Given the description of an element on the screen output the (x, y) to click on. 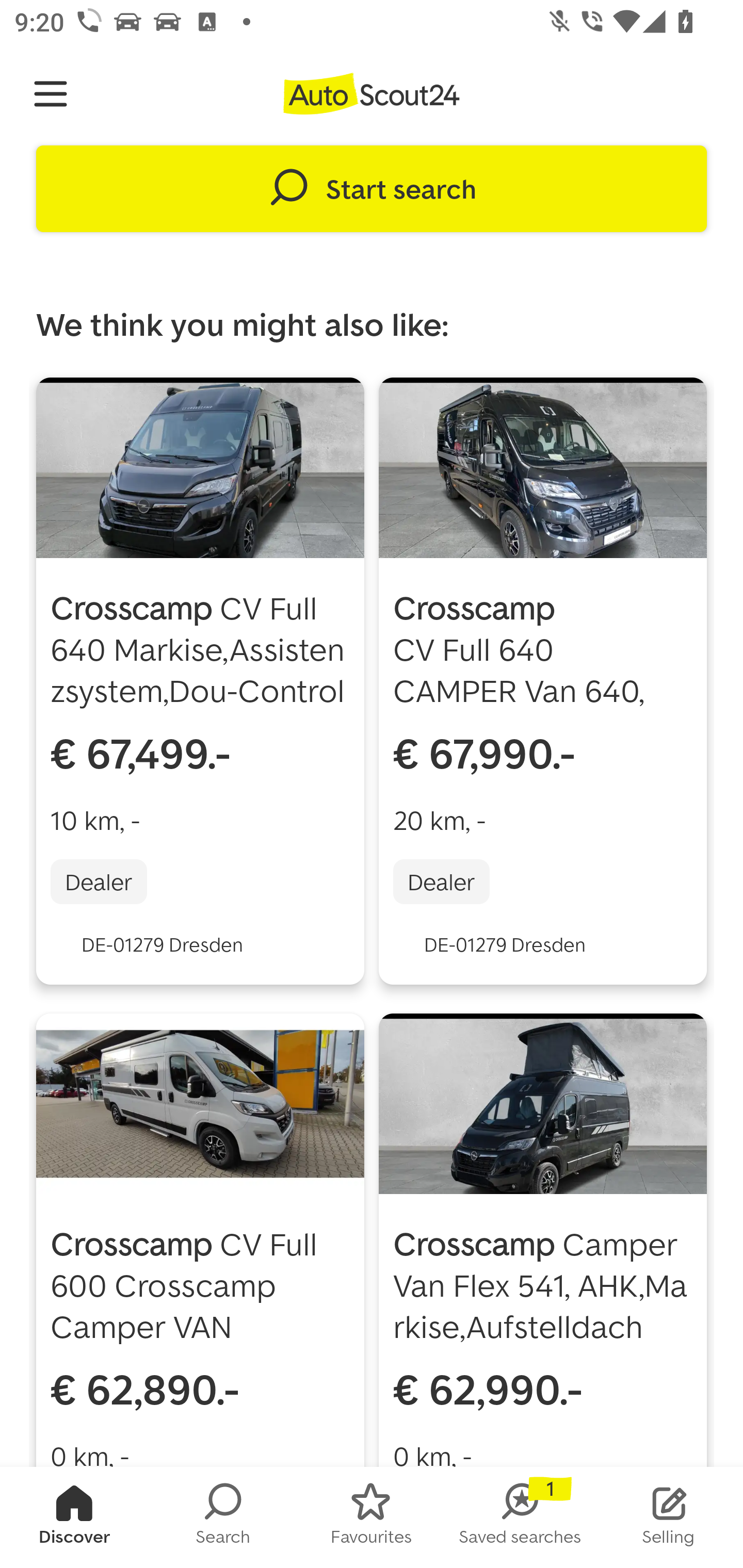
Navigate up (50, 93)
Start search (371, 188)
HOMESCREEN Discover (74, 1517)
SEARCH Search (222, 1517)
FAVORITES Favourites (371, 1517)
SAVED_SEARCHES Saved searches 1 (519, 1517)
STOCK_LIST Selling (668, 1517)
